Given the description of an element on the screen output the (x, y) to click on. 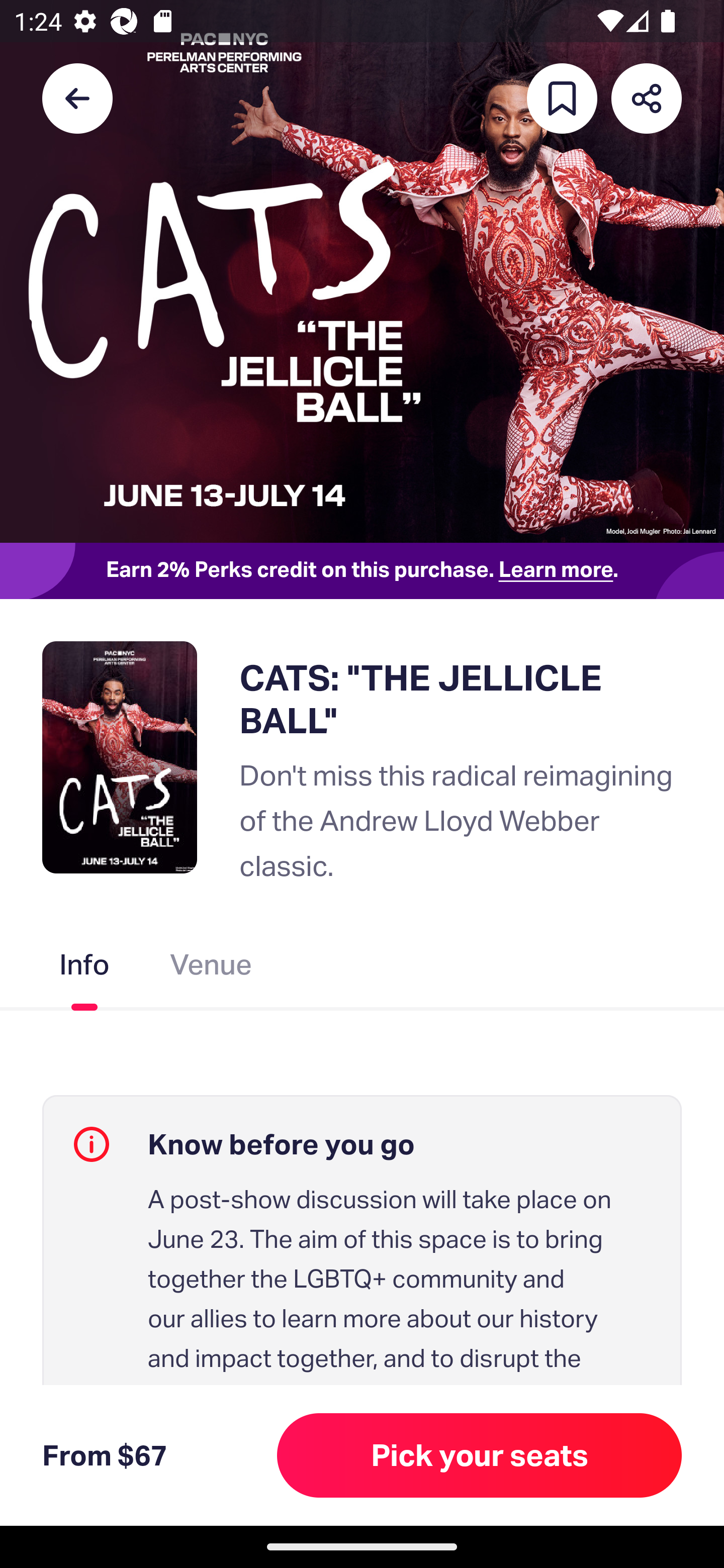
Earn 2% Perks credit on this purchase. Learn more. (362, 570)
Venue (210, 968)
Pick your seats (479, 1454)
